Given the description of an element on the screen output the (x, y) to click on. 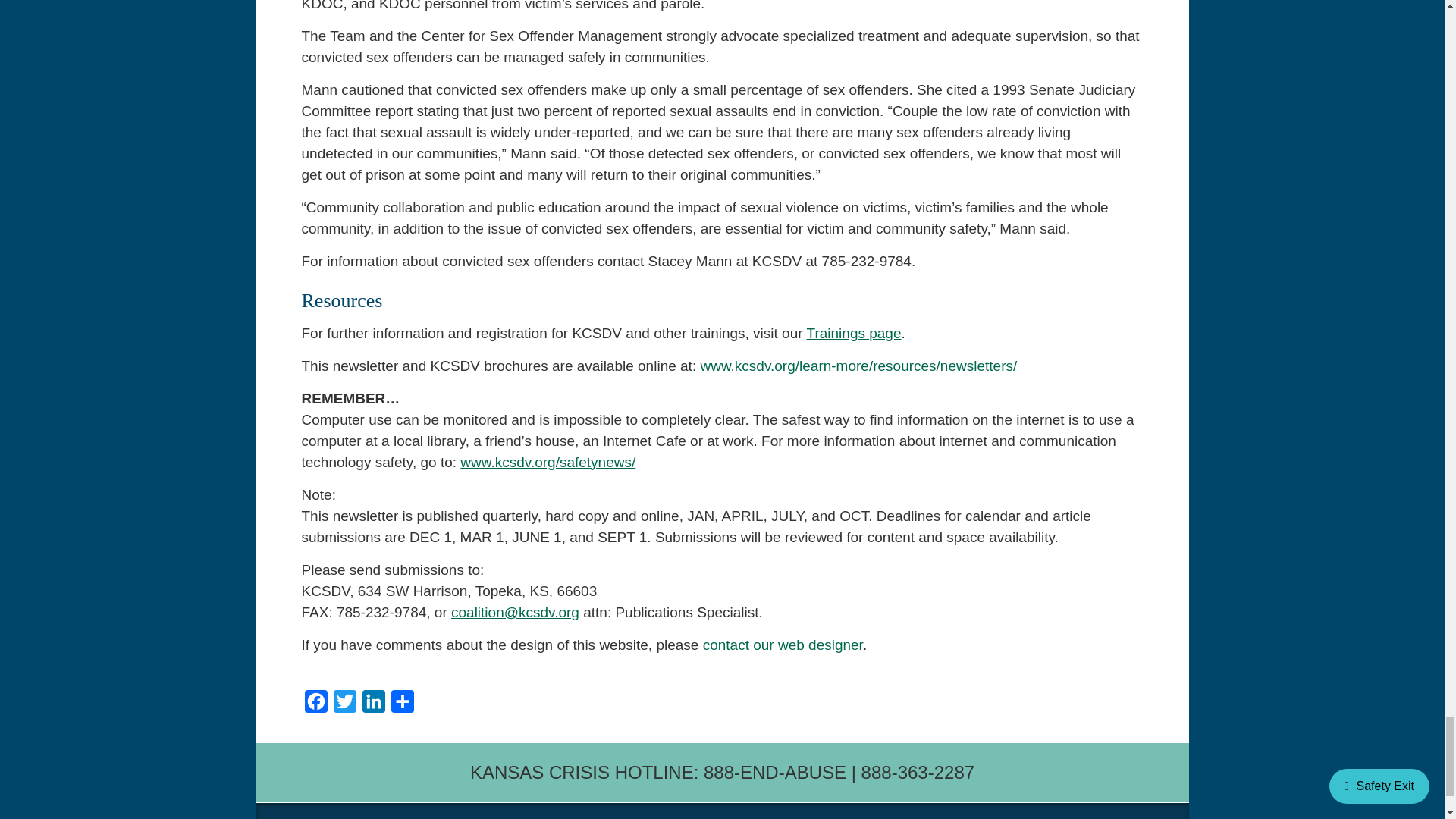
Facebook (315, 705)
Twitter (344, 705)
LinkedIn (373, 705)
